Given the description of an element on the screen output the (x, y) to click on. 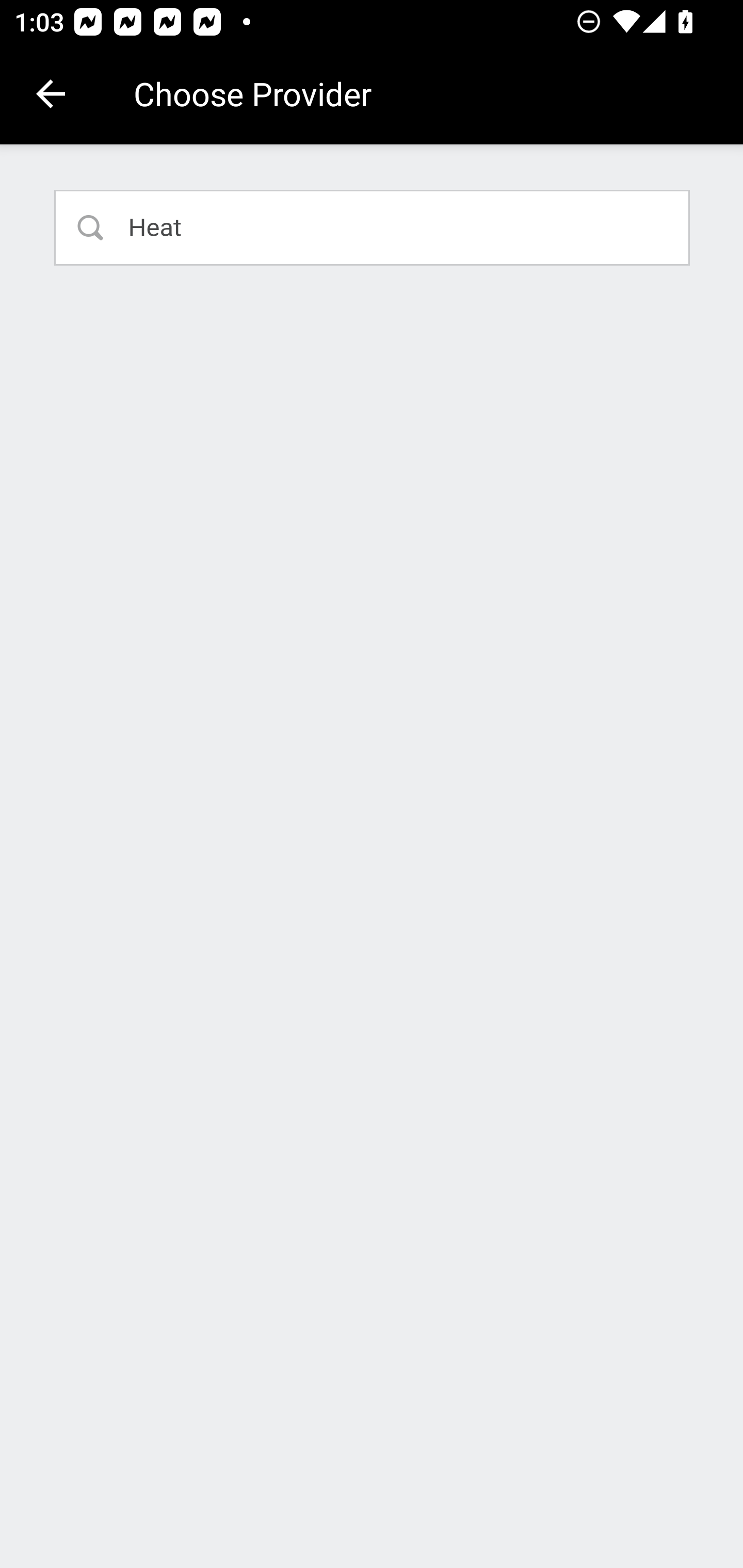
Navigate up (50, 93)
Heat (372, 227)
